Given the description of an element on the screen output the (x, y) to click on. 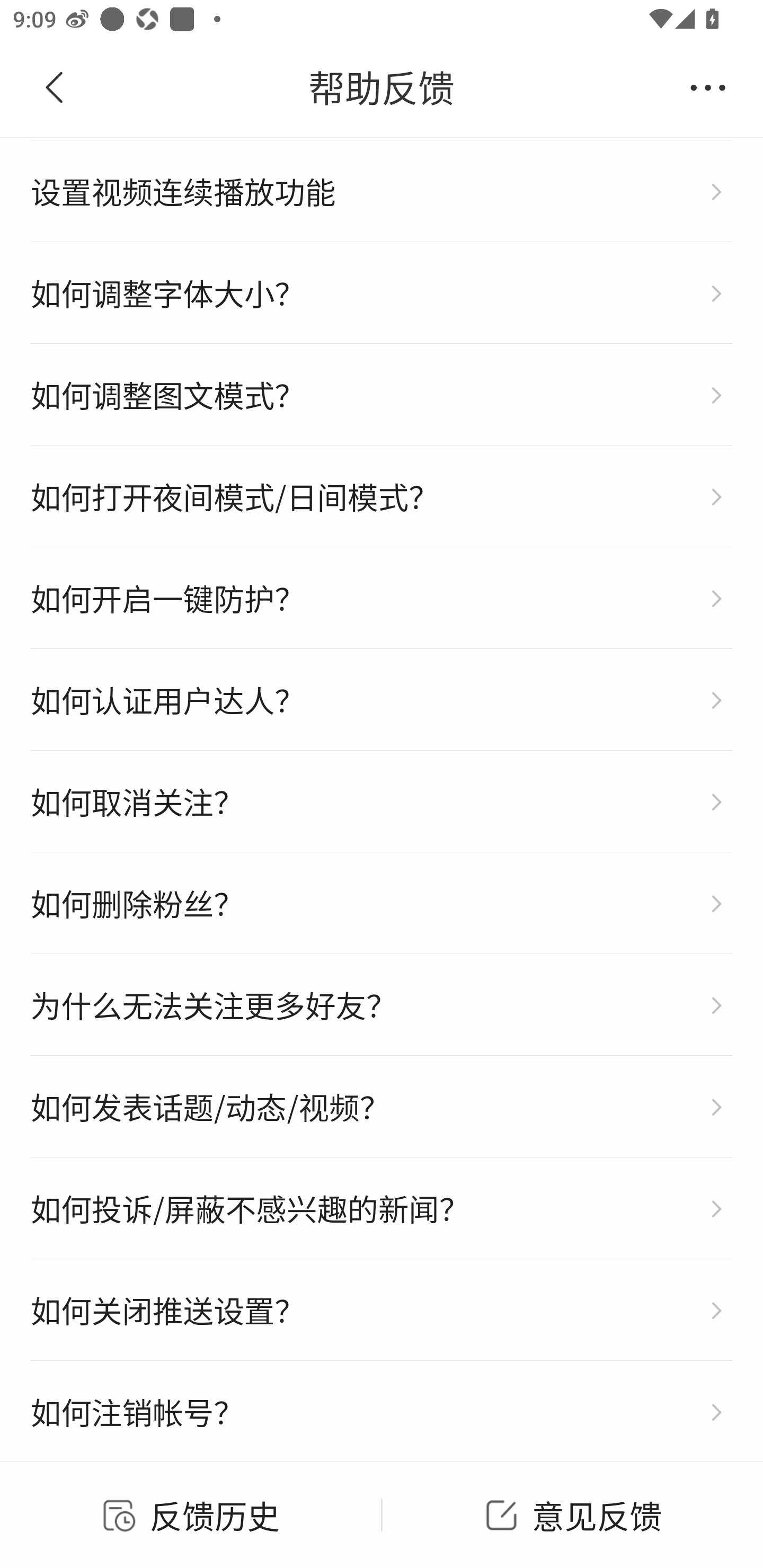
 返回 (54, 87)
 更多 (707, 87)
帮助反馈 (381, 88)
反馈历史 (191, 1514)
意见反馈 (572, 1514)
